Given the description of an element on the screen output the (x, y) to click on. 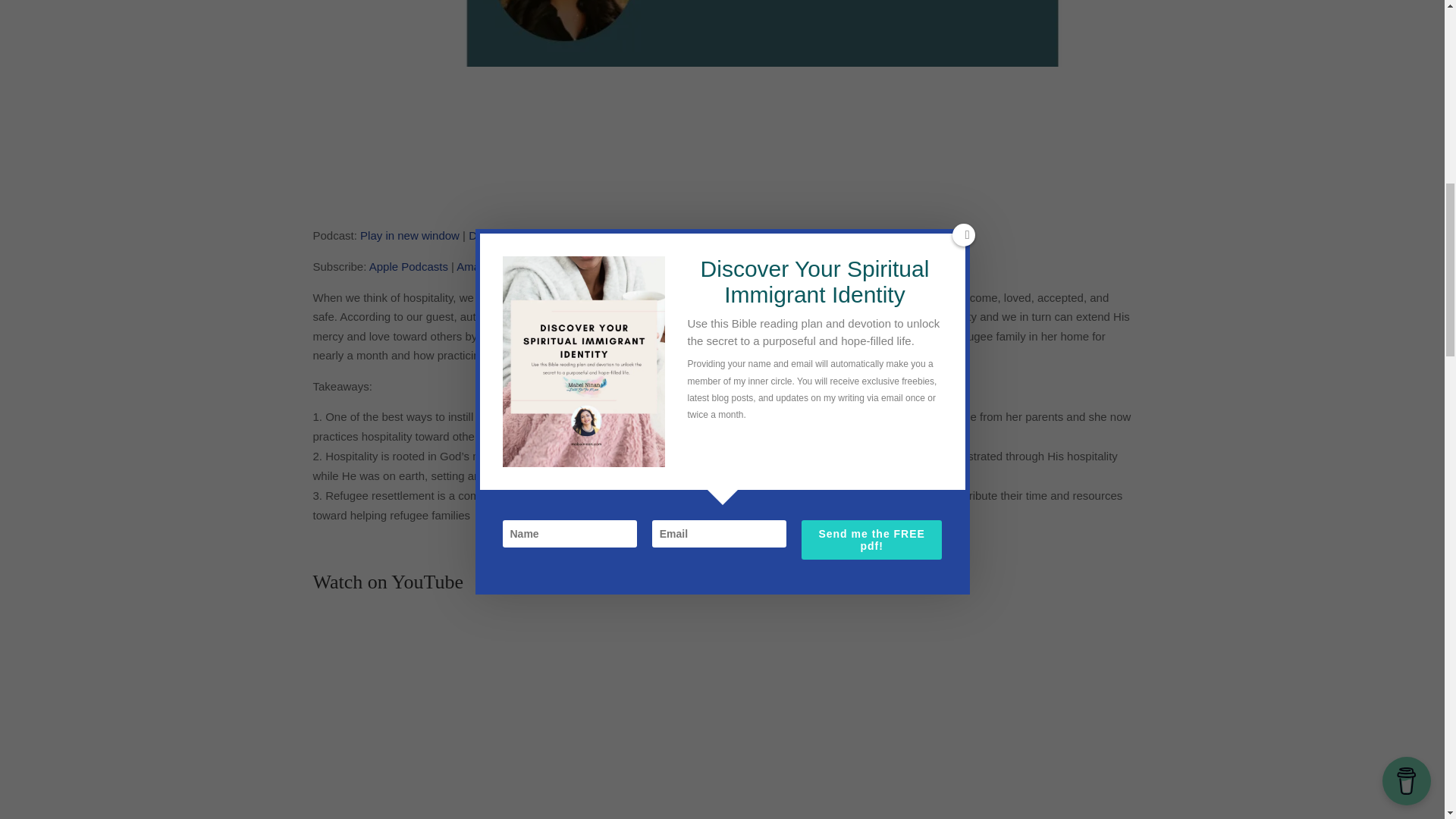
Play in new window (409, 235)
Blubrry (606, 266)
Subscribe on Apple Podcasts (408, 266)
Subscribe via RSS (645, 266)
Subscribe on Android (559, 266)
Download (493, 235)
Play in new window (409, 235)
Subscribe on Amazon Music (494, 266)
Embed (556, 235)
Subscribe on Blubrry (606, 266)
Download (493, 235)
Android (559, 266)
Apple Podcasts (408, 266)
RSS (645, 266)
Amazon Music (494, 266)
